Given the description of an element on the screen output the (x, y) to click on. 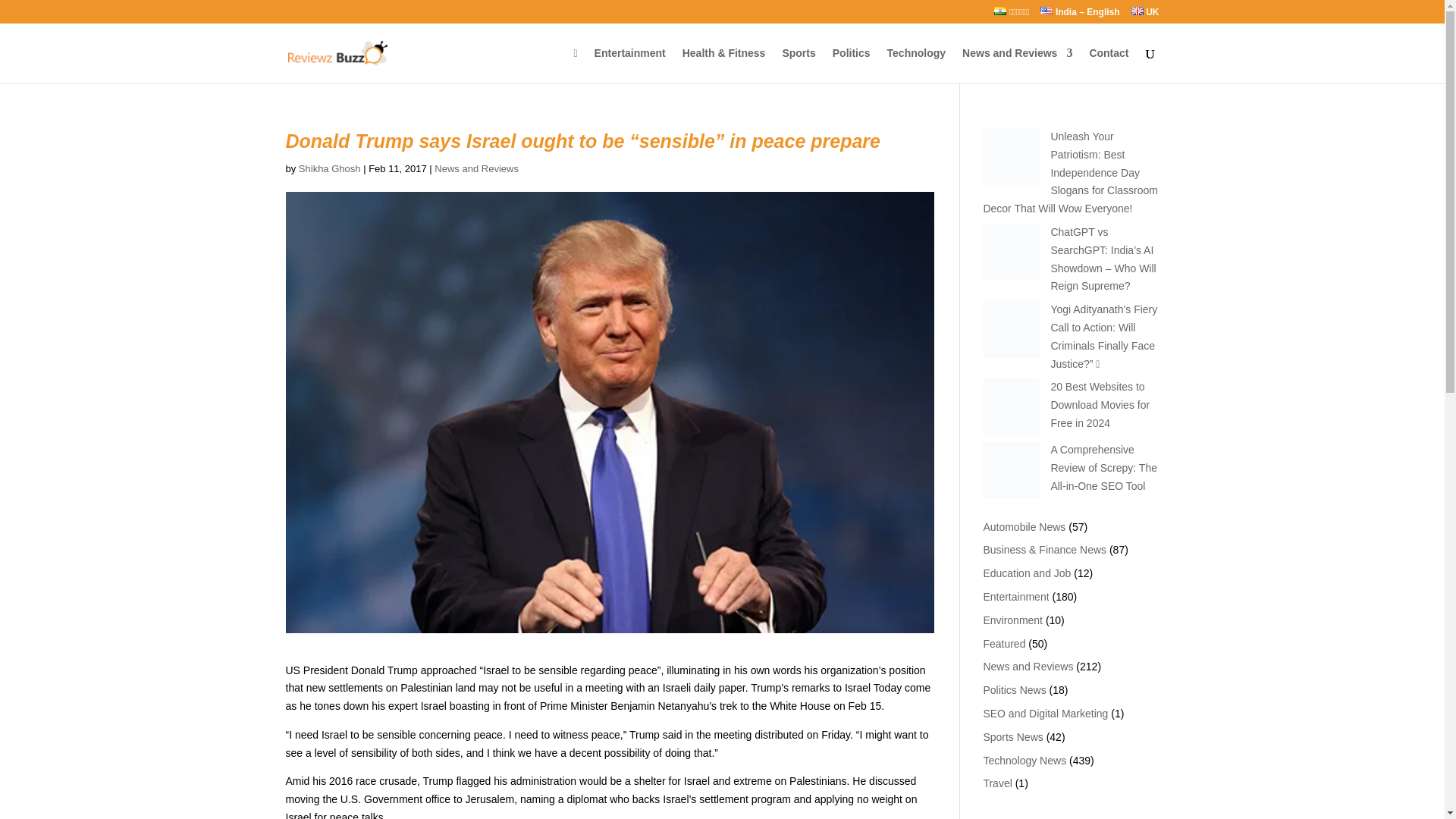
News and Reviews (1016, 65)
Education and Job (1026, 573)
Technology (916, 65)
Politics (851, 65)
Sports (798, 65)
Sports News (1012, 736)
SEO and Digital Marketing (1045, 713)
UK (1144, 14)
20 Best Websites to Download Movies for Free in 2024 (1099, 404)
Politics News (1013, 689)
Featured (1003, 644)
Environment (1012, 620)
News and Reviews (475, 168)
Technology News (1023, 760)
